Given the description of an element on the screen output the (x, y) to click on. 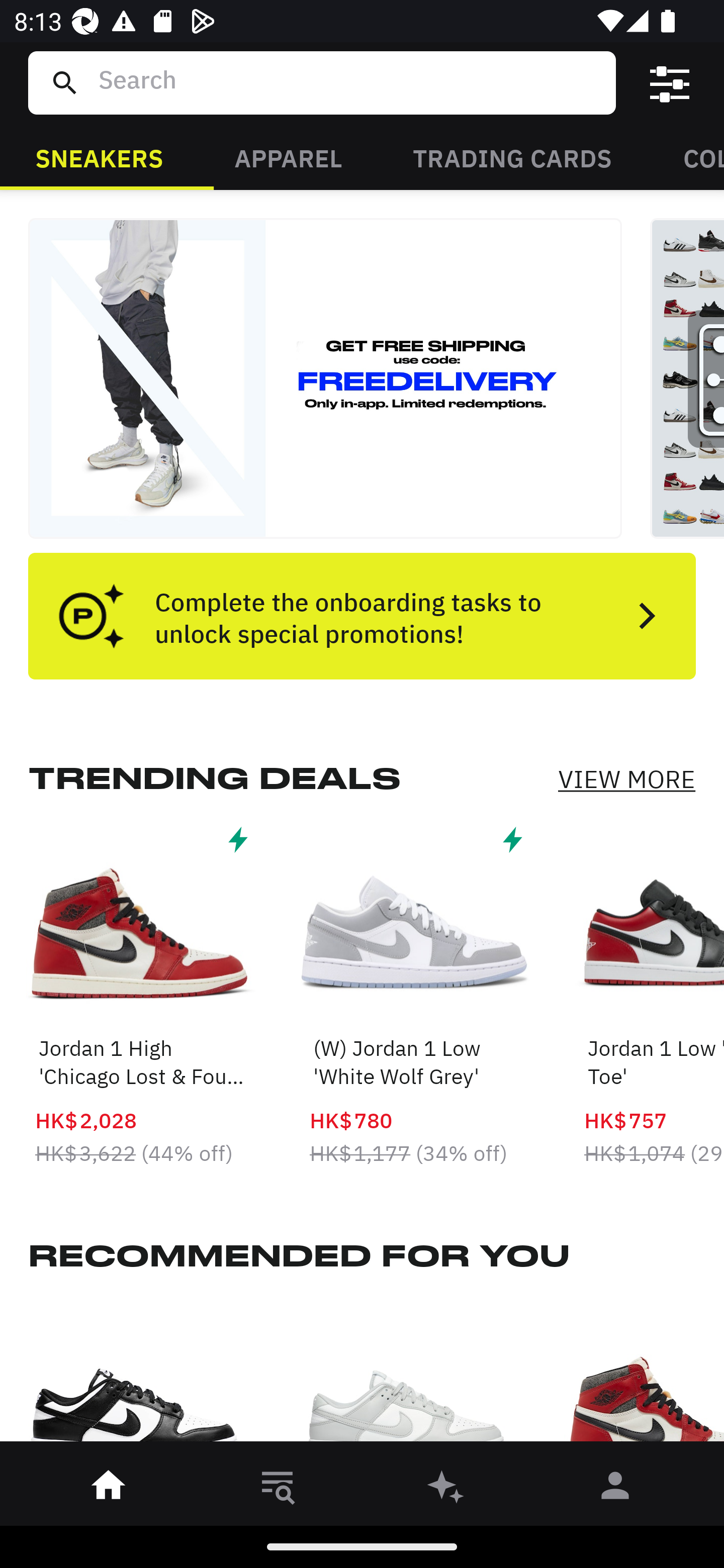
Search (349, 82)
 (669, 82)
SNEAKERS (99, 156)
APPAREL (287, 156)
TRADING CARDS (512, 156)
VIEW MORE (626, 779)
󰋜 (108, 1488)
󱎸 (277, 1488)
󰫢 (446, 1488)
󰀄 (615, 1488)
